Given the description of an element on the screen output the (x, y) to click on. 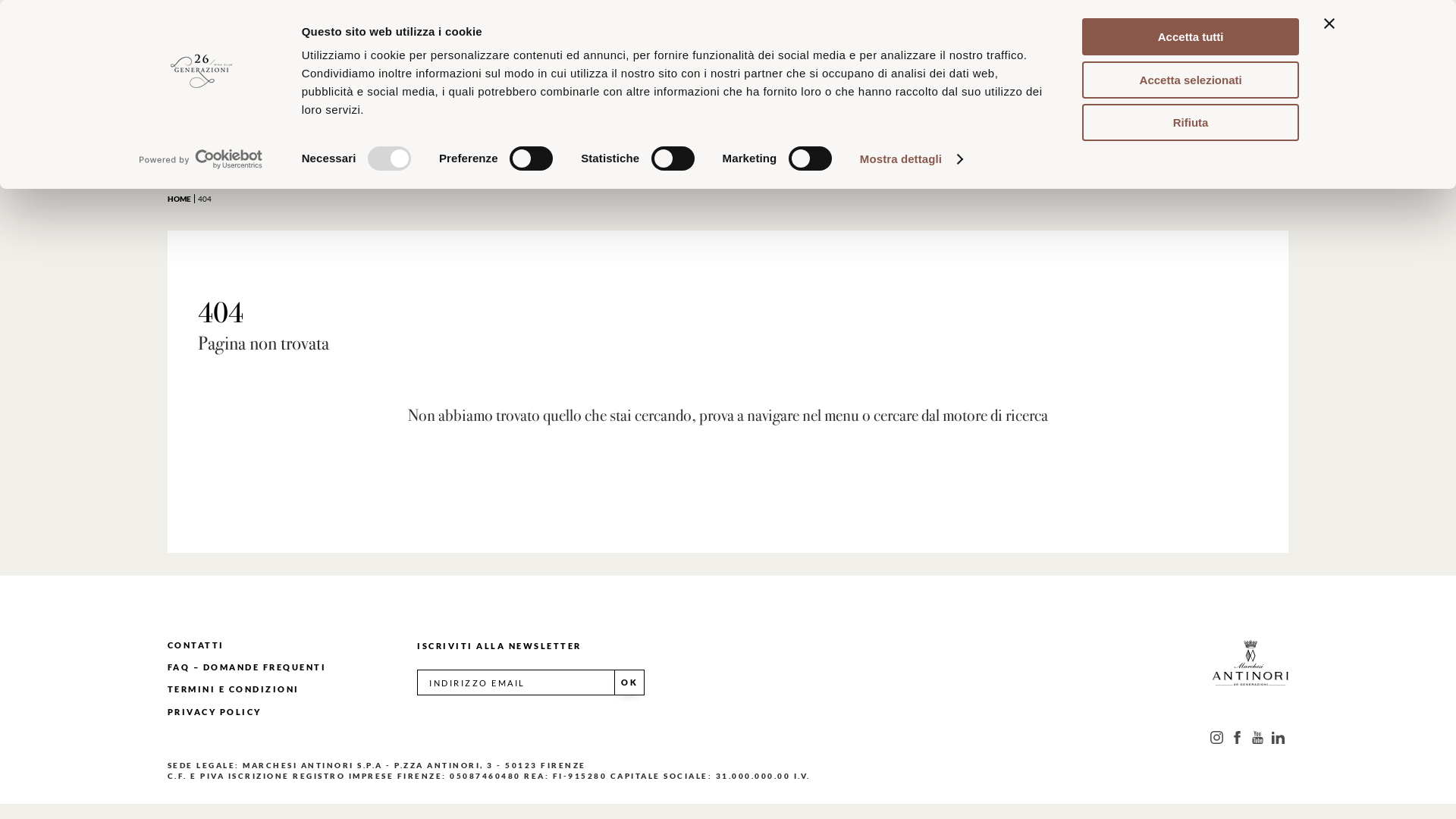
LINKEDIN Element type: text (1277, 737)
YOUTUBE Element type: text (1257, 737)
OK Element type: text (629, 682)
TERMINI E CONDIZIONI Element type: text (233, 688)
Accetta selezionati Element type: text (1190, 78)
INSTAGRAM Element type: text (1216, 737)
Login / Registrati Element type: text (1218, 48)
FACEBOOK Element type: text (1236, 737)
Carrello Element type: text (1342, 48)
Mostra dettagli Element type: text (910, 158)
PRIVACY POLICY Element type: text (214, 711)
Rifiuta Element type: text (1190, 122)
CONTATTI Element type: text (195, 644)
Accetta tutti Element type: text (1190, 36)
HOME Element type: text (182, 198)
